Given the description of an element on the screen output the (x, y) to click on. 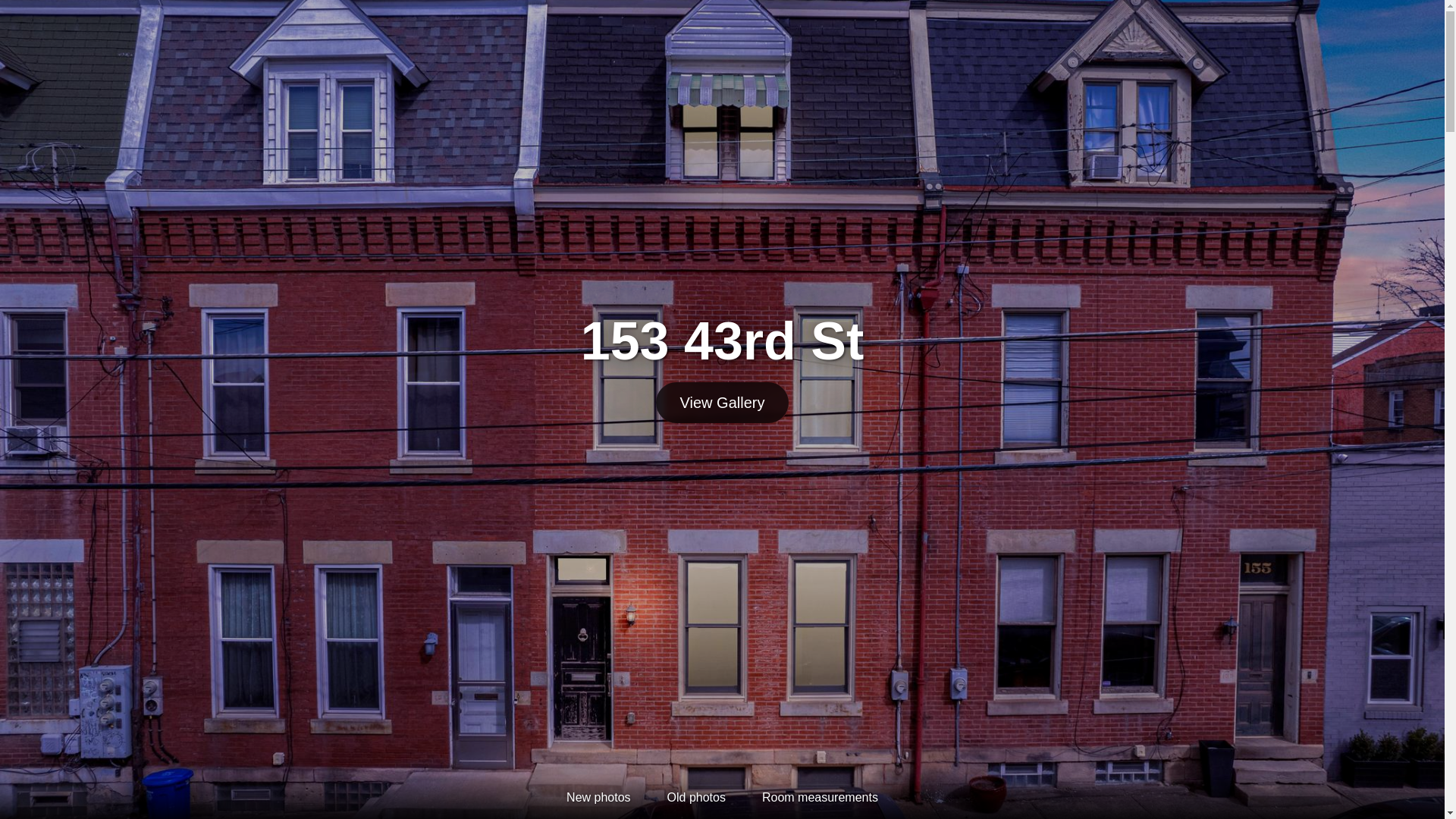
View Gallery Element type: text (722, 402)
